Given the description of an element on the screen output the (x, y) to click on. 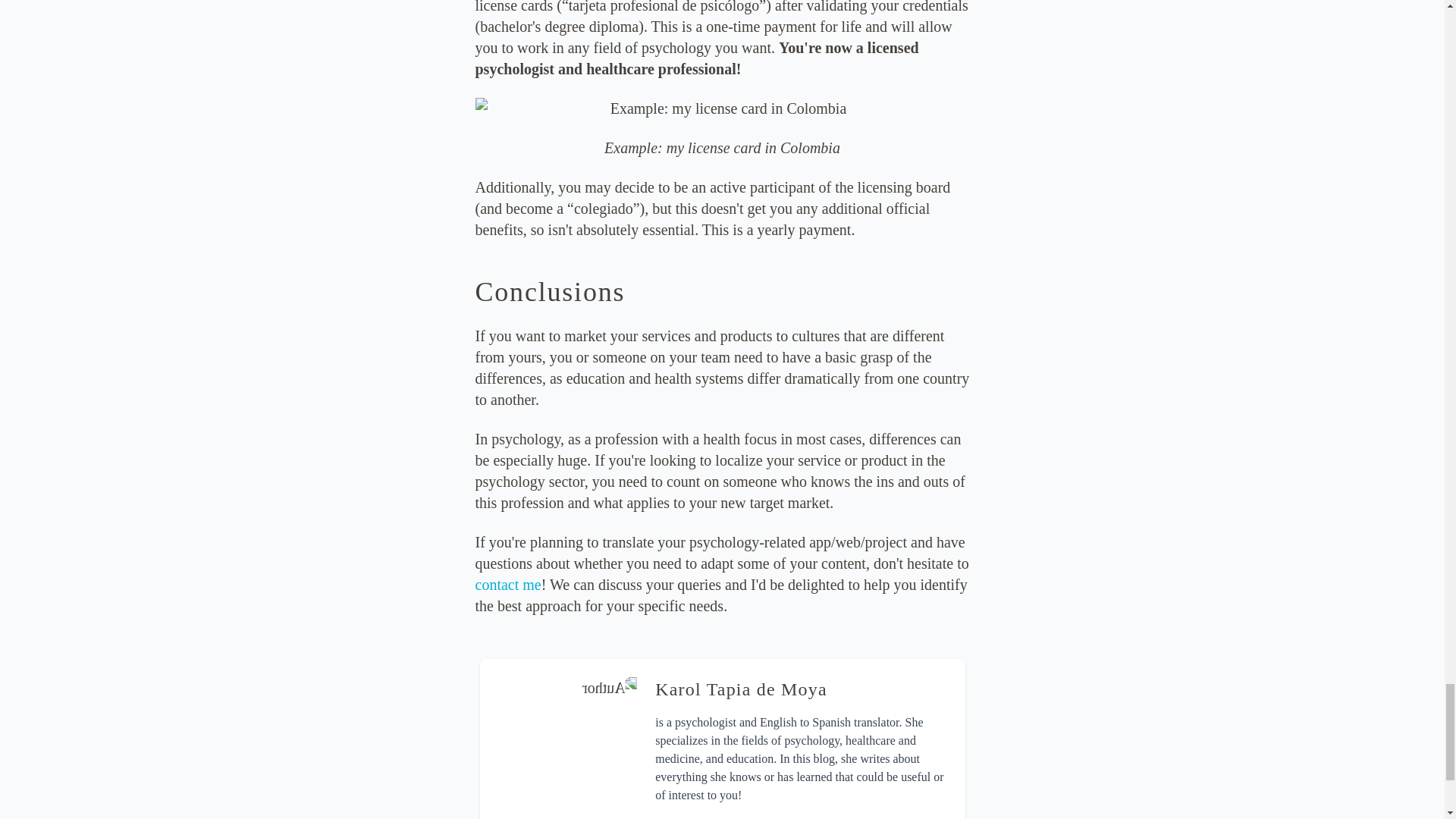
contact me (507, 584)
